Given the description of an element on the screen output the (x, y) to click on. 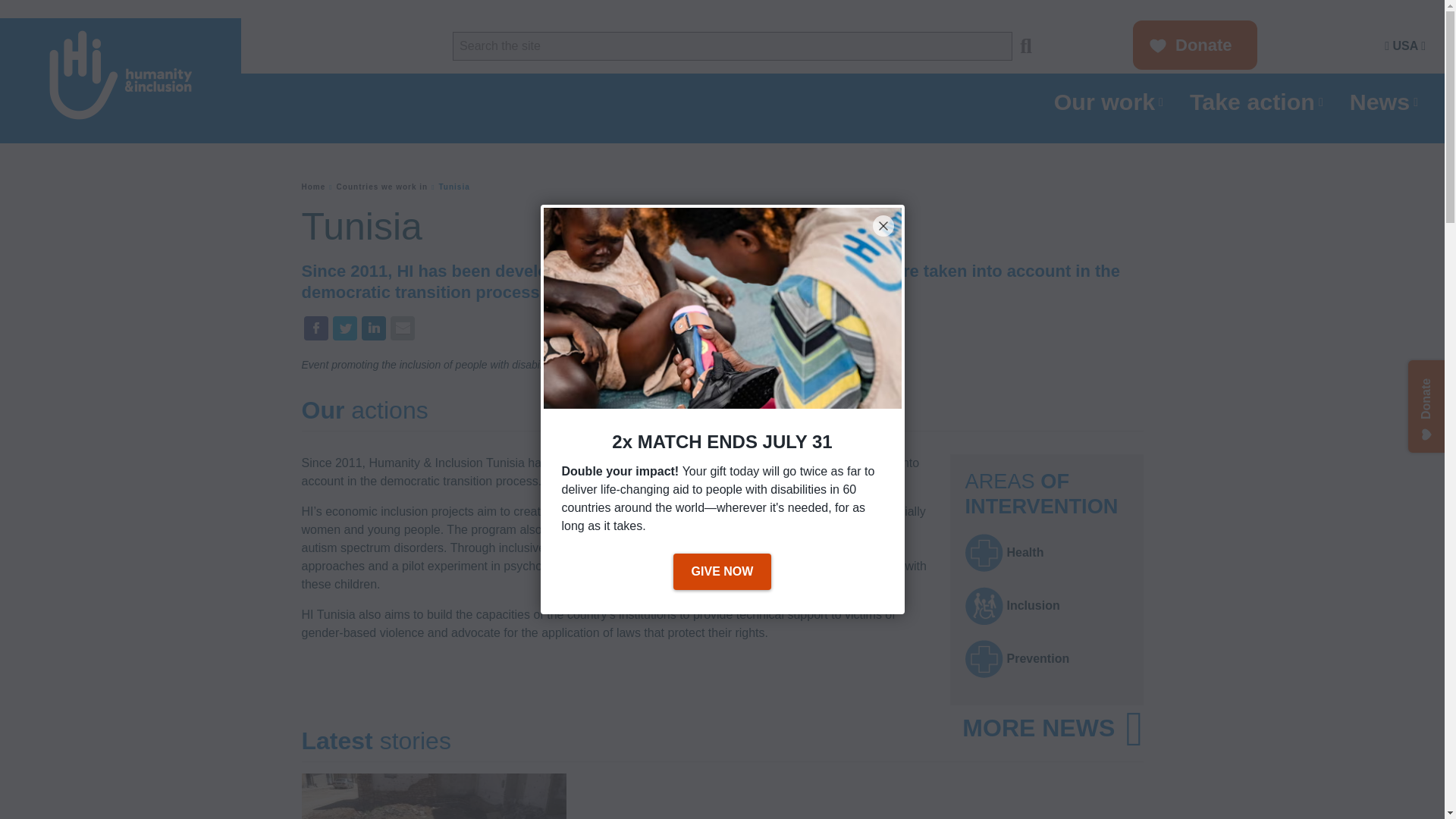
USA (1404, 45)
Home (313, 186)
Donate Button (1193, 45)
Countries we work in (382, 186)
Take action (1258, 102)
Our work (1109, 102)
Inclusion (983, 605)
Prevention (983, 658)
Health (983, 552)
